Given the description of an element on the screen output the (x, y) to click on. 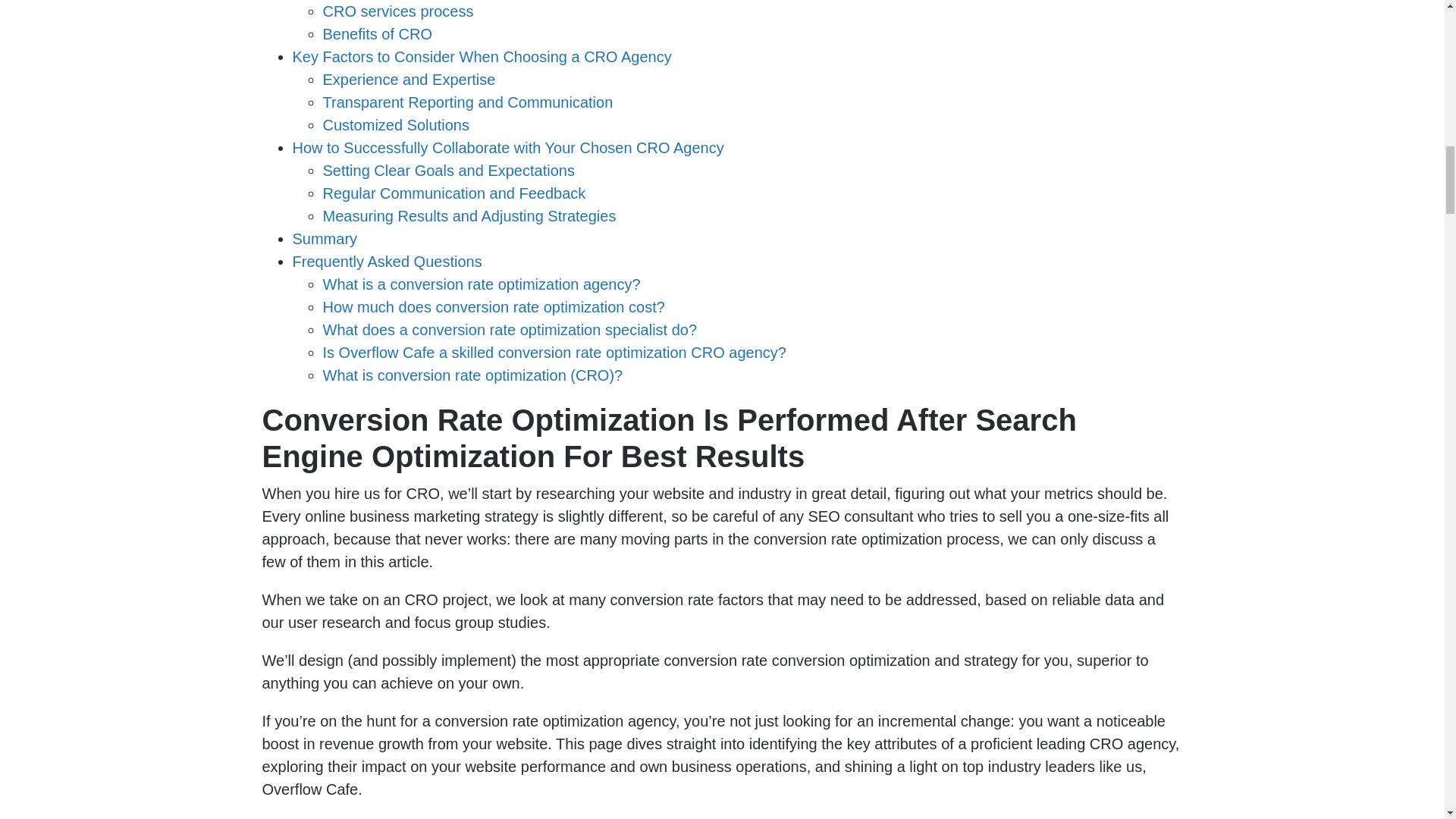
Setting Clear Goals and Expectations (449, 170)
Transparent Reporting and Communication (467, 102)
What is a conversion rate optimization agency? (481, 284)
How much does conversion rate optimization cost? (494, 306)
What does a conversion rate optimization specialist do? (510, 329)
Regular Communication and Feedback (454, 193)
Frequently Asked Questions (386, 261)
Key Factors to Consider When Choosing a CRO Agency (481, 56)
Benefits of CRO (377, 33)
